Given the description of an element on the screen output the (x, y) to click on. 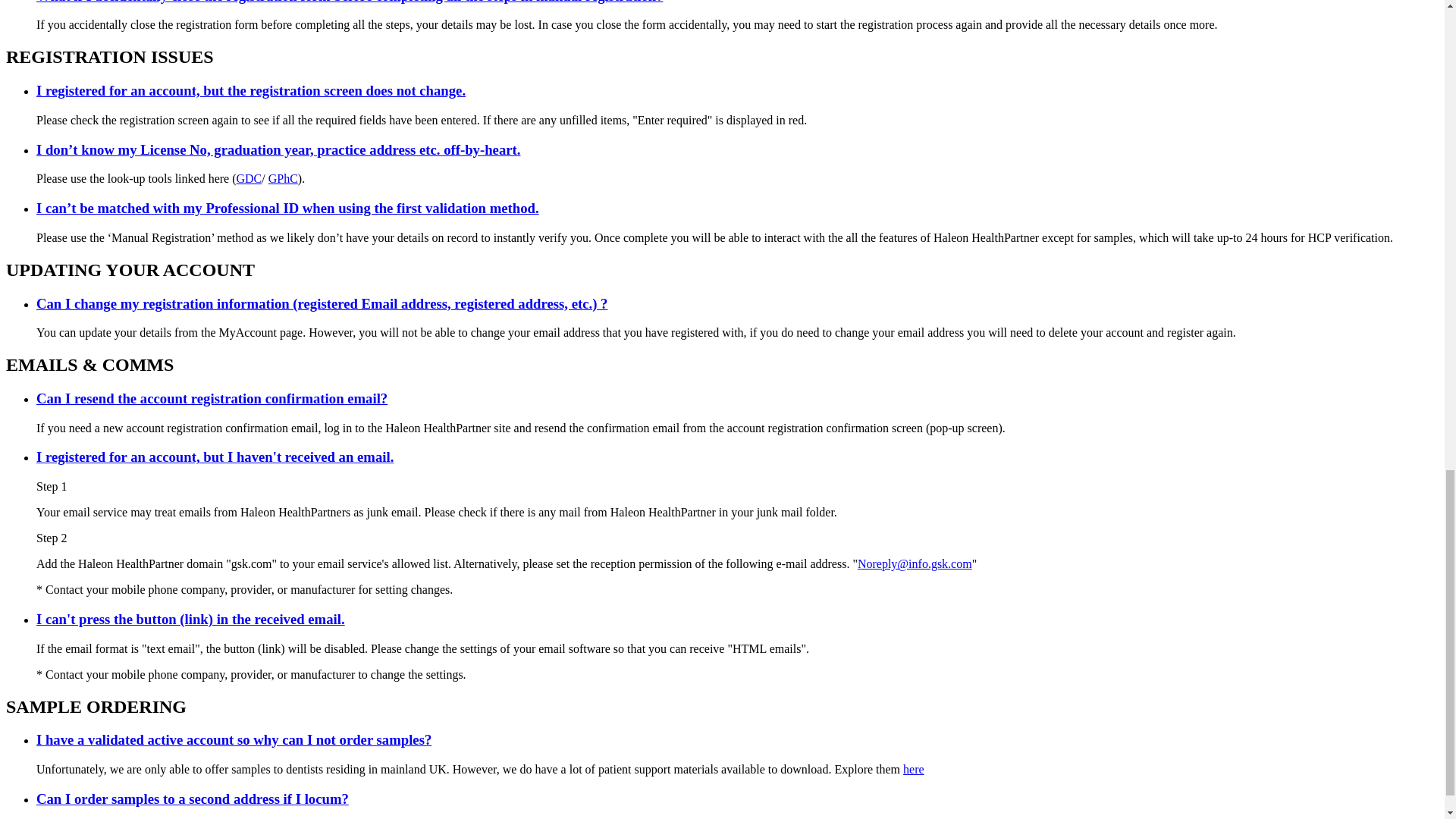
Can I resend the account registration confirmation email? (211, 398)
